Given the description of an element on the screen output the (x, y) to click on. 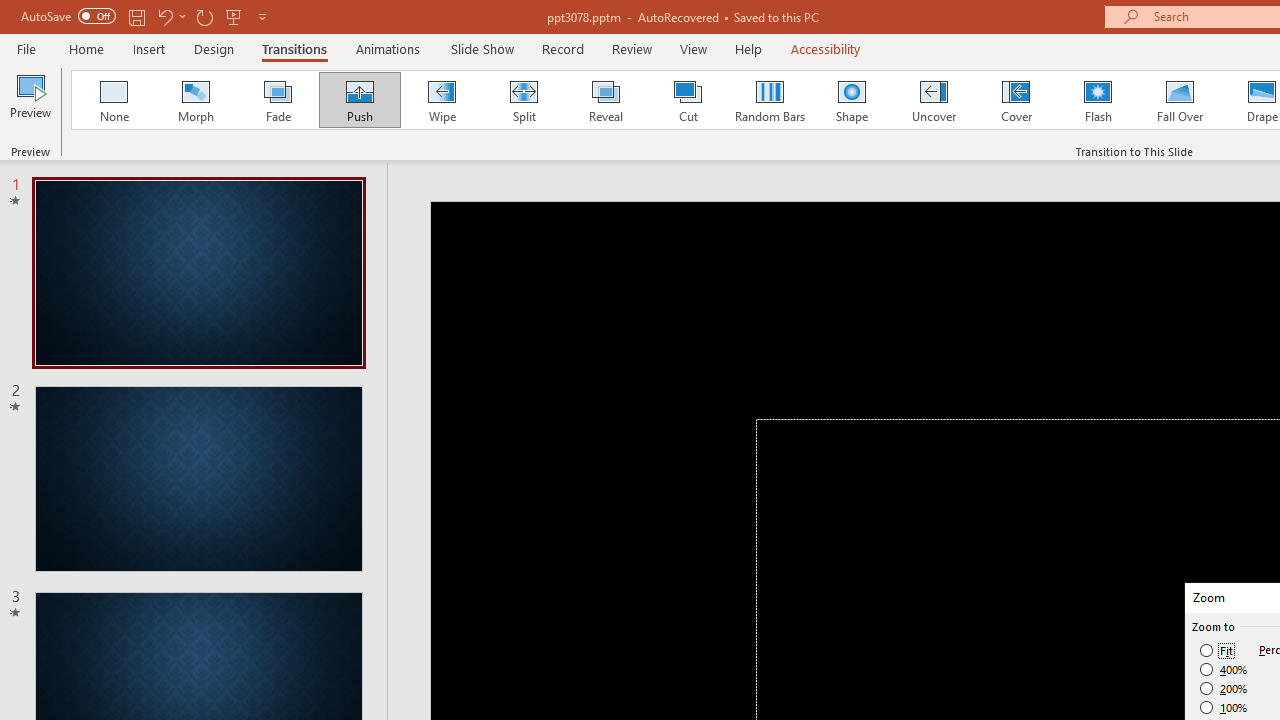
Flash (1098, 100)
Uncover (934, 100)
Reveal (605, 100)
